Given the description of an element on the screen output the (x, y) to click on. 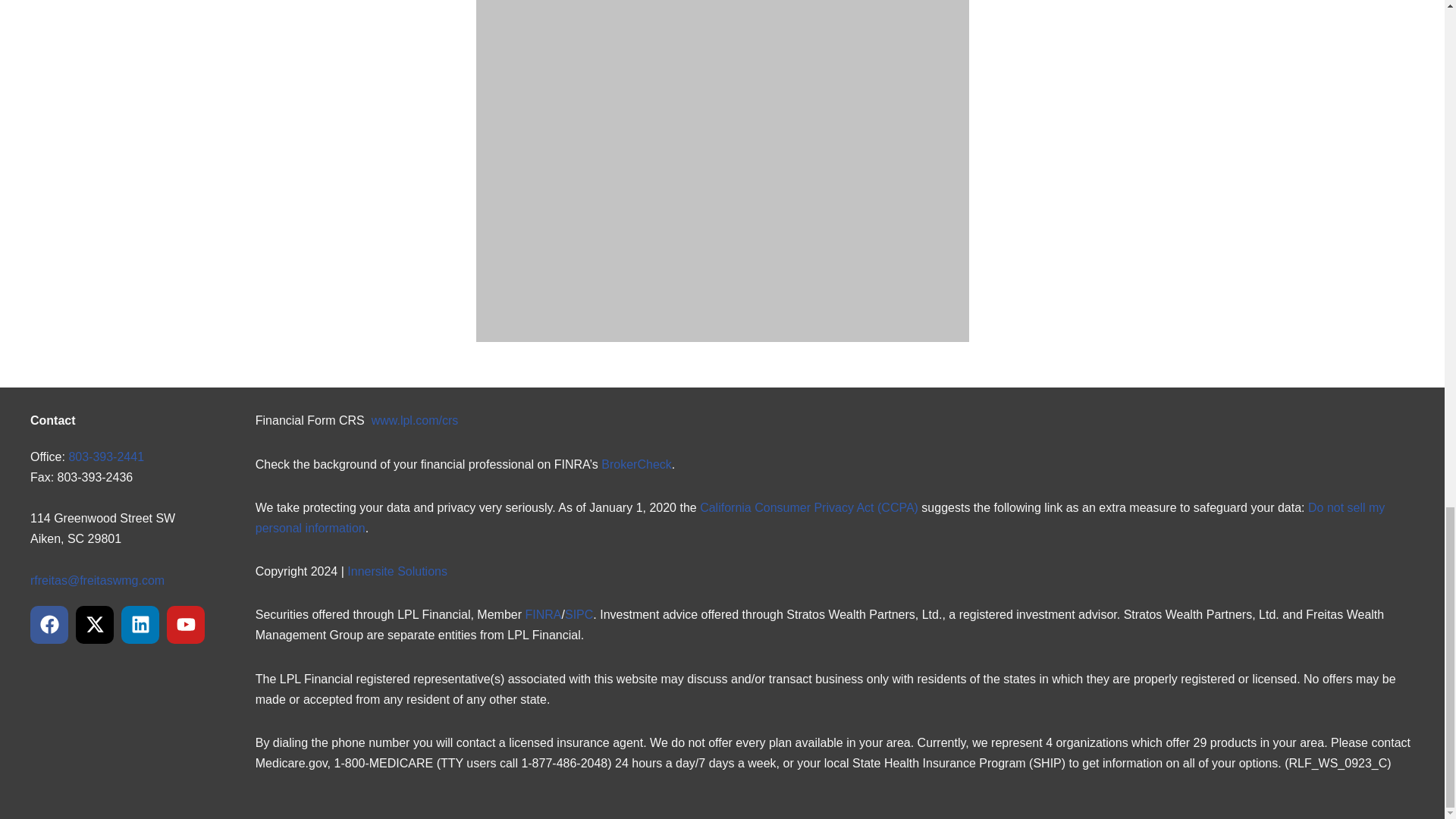
SIPC (578, 614)
BrokerCheck (636, 463)
FINRA (542, 614)
803-393-2441 (106, 455)
Innersite Solutions (396, 571)
Do not sell my personal information (821, 517)
